Given the description of an element on the screen output the (x, y) to click on. 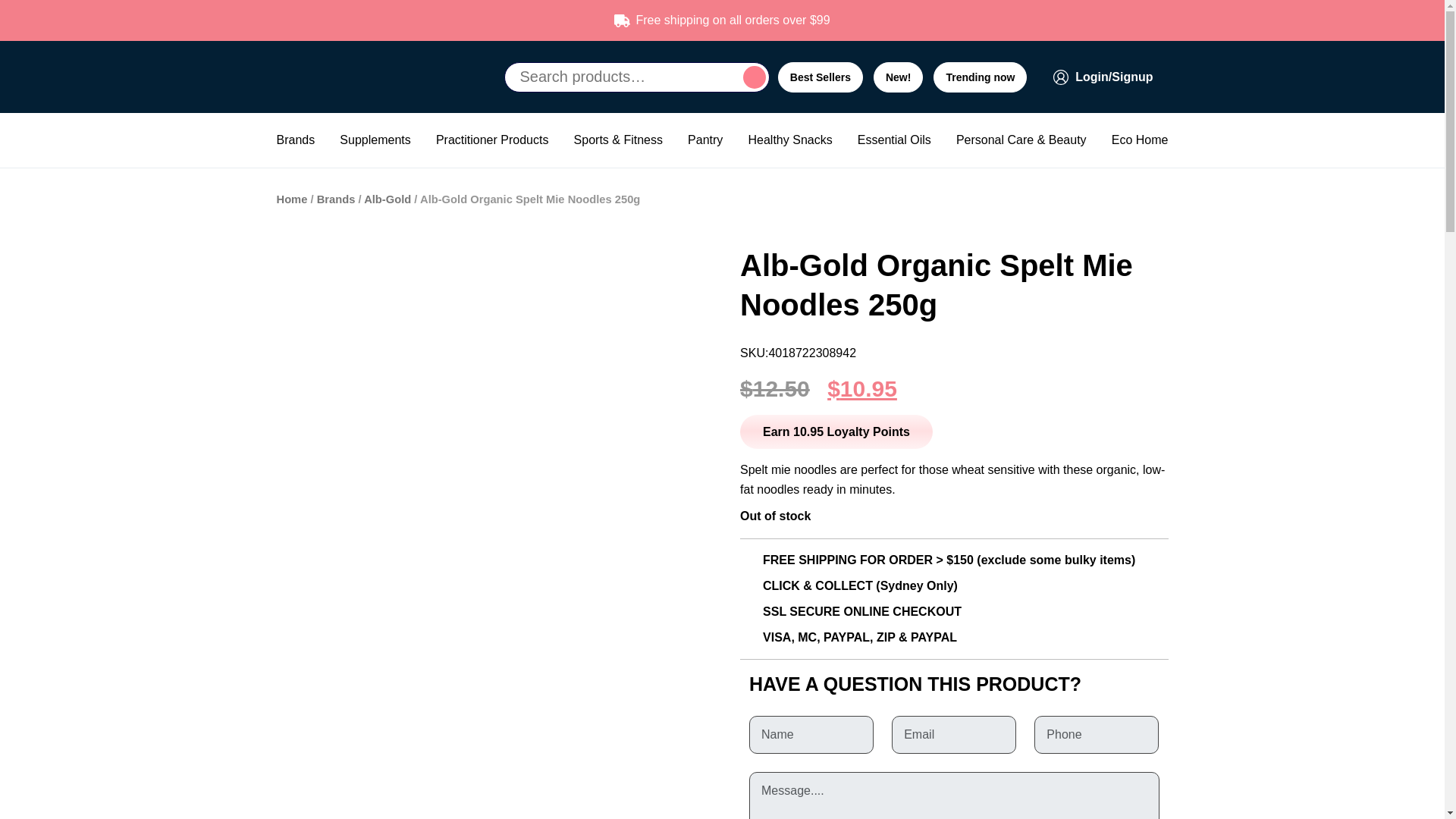
Home (291, 199)
Essential Oils (894, 140)
Brands (295, 140)
Search (753, 76)
Trending now (979, 77)
New! (898, 77)
Practitioner Products (491, 140)
Eco Home (1140, 140)
Supplements (374, 140)
Best Sellers (820, 77)
